Given the description of an element on the screen output the (x, y) to click on. 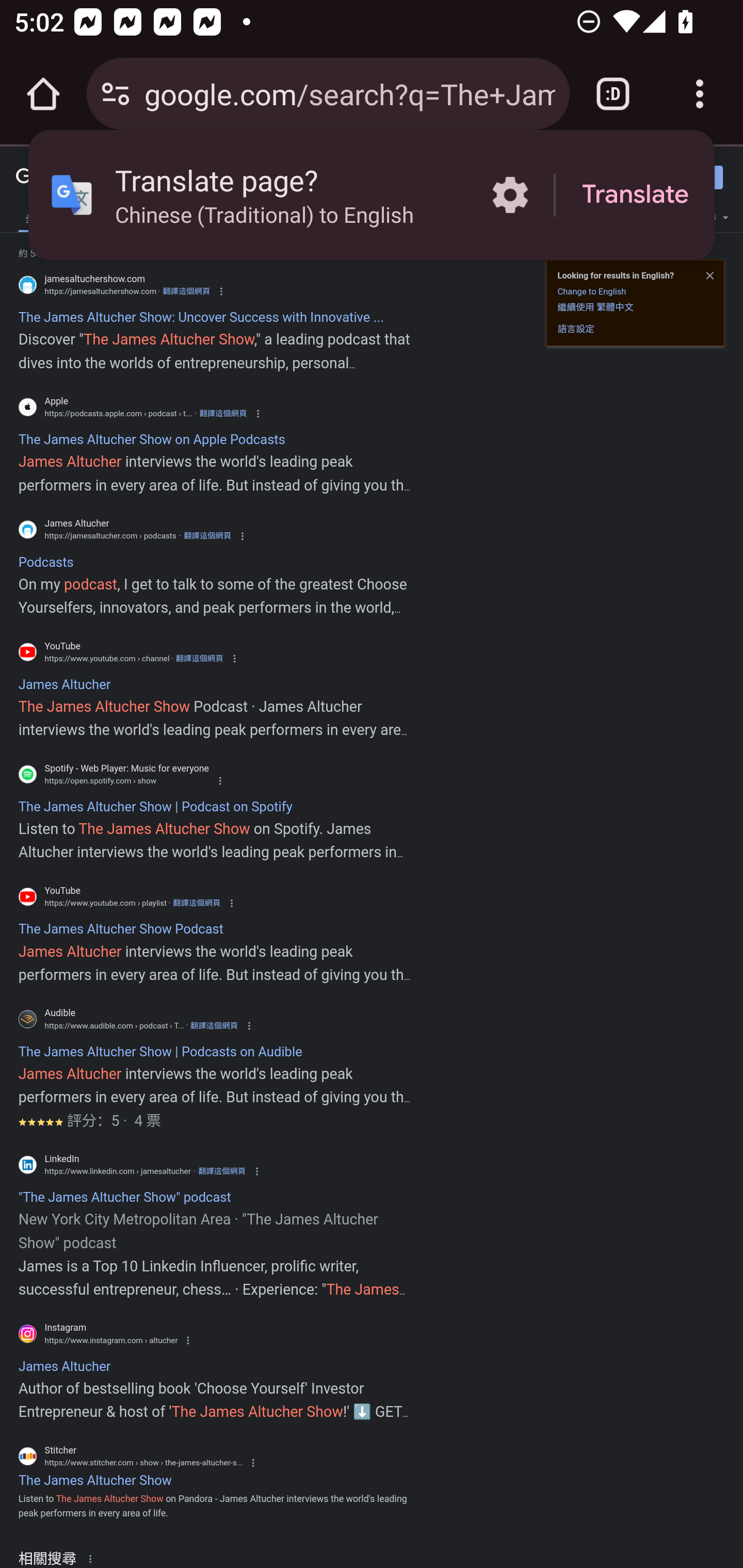
Open the home page (43, 93)
Connection is secure (115, 93)
Switch or close tabs (612, 93)
Customize and control Google Chrome (699, 93)
Translate (634, 195)
More options in the Translate page? (509, 195)
翻譯這個網頁 (185, 291)
Change to English (591, 291)
繼續使用 繁體中文 繼續使用  繁體中文 (595, 306)
語言設定 (576, 328)
翻譯這個網頁 (223, 413)
翻譯這個網頁 (207, 535)
翻譯這個網頁 (199, 658)
翻譯這個網頁 (196, 902)
翻譯這個網頁 (213, 1025)
翻譯這個網頁 (221, 1171)
關於此結果 (93, 1557)
